Given the description of an element on the screen output the (x, y) to click on. 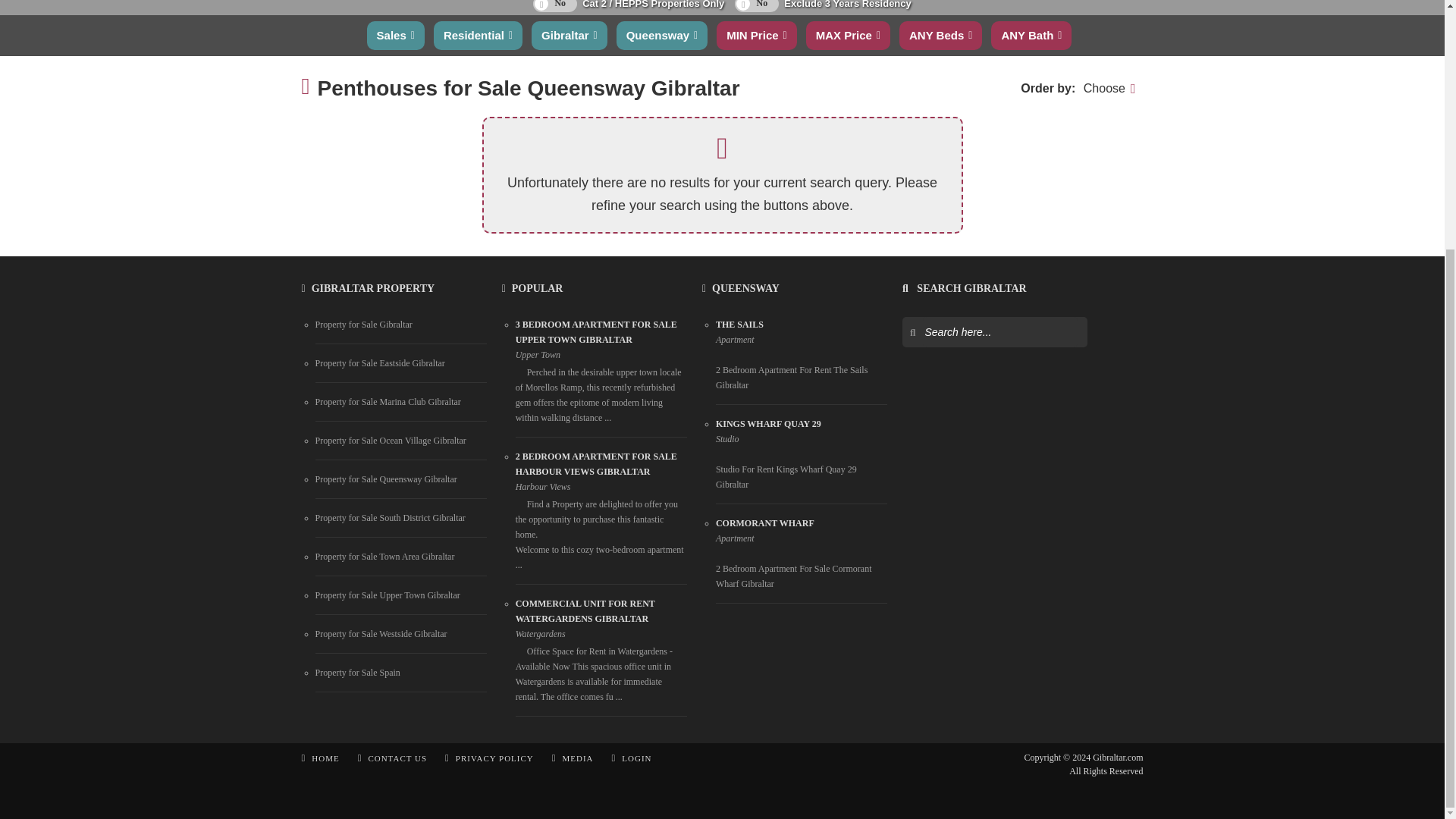
Search here... (1000, 331)
